Given the description of an element on the screen output the (x, y) to click on. 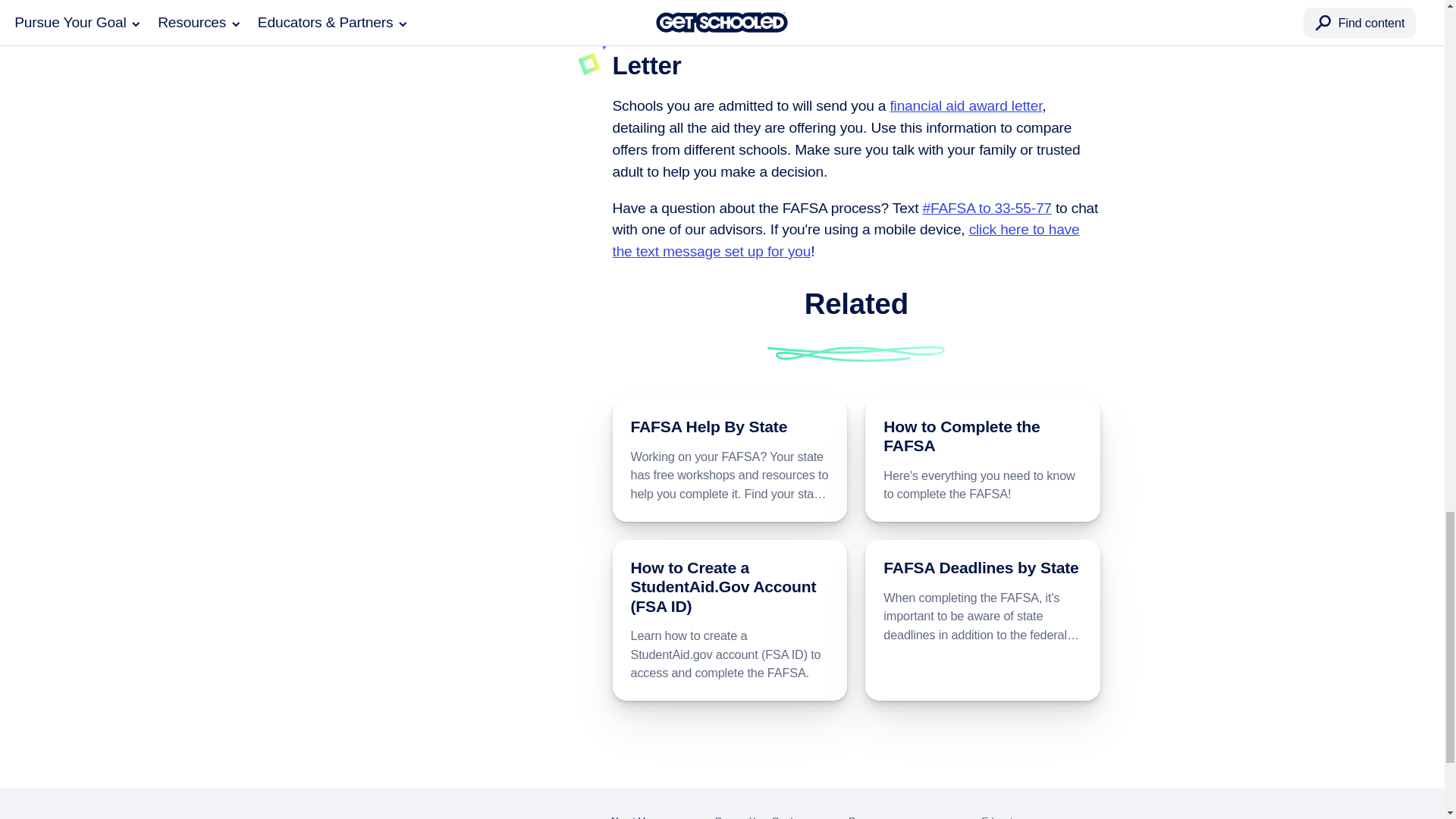
financial aid award letter (965, 105)
